Given the description of an element on the screen output the (x, y) to click on. 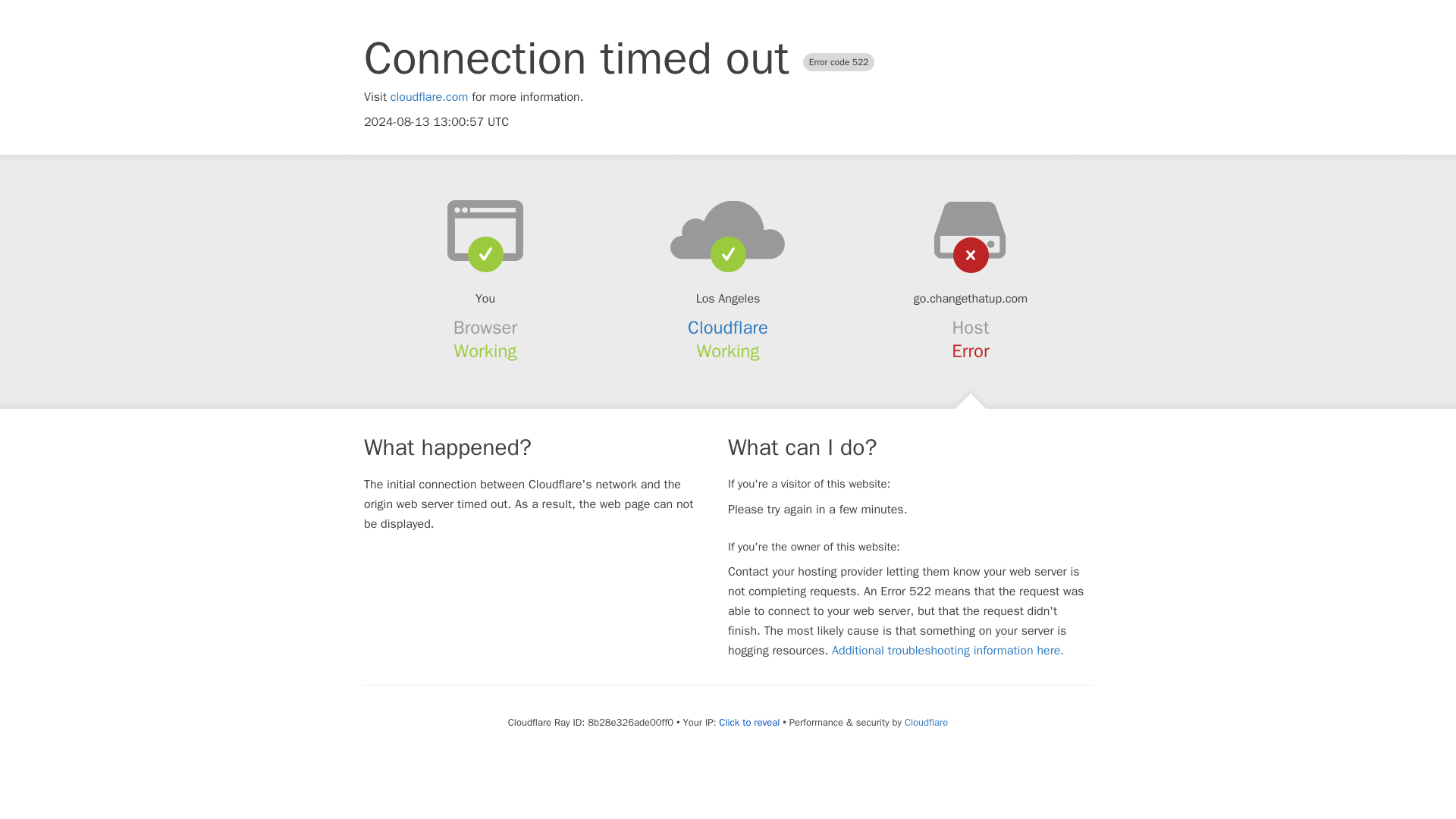
Click to reveal (748, 722)
cloudflare.com (429, 96)
Additional troubleshooting information here. (947, 650)
Cloudflare (925, 721)
Cloudflare (727, 327)
